Given the description of an element on the screen output the (x, y) to click on. 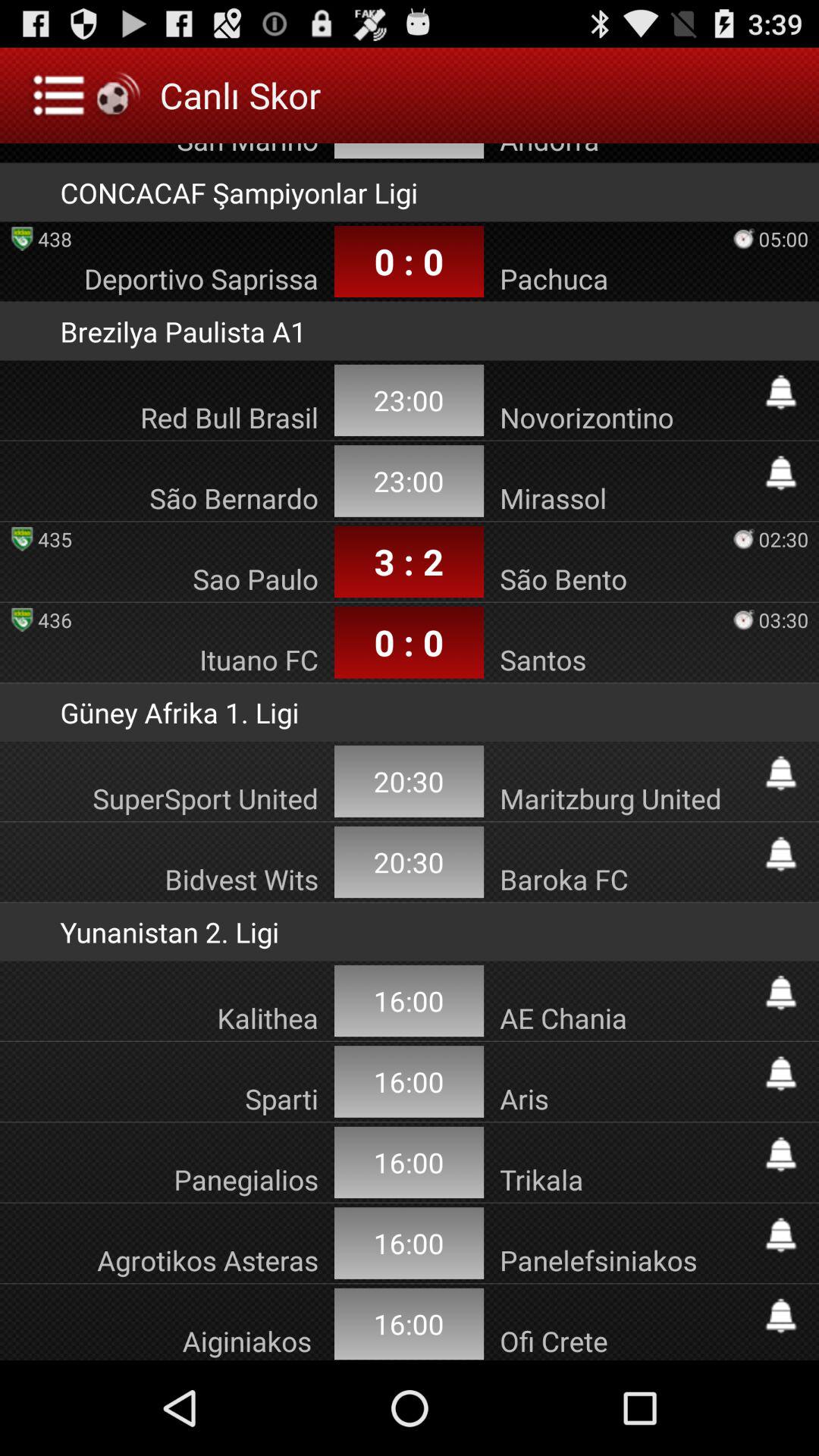
set alert for game (780, 1315)
